Given the description of an element on the screen output the (x, y) to click on. 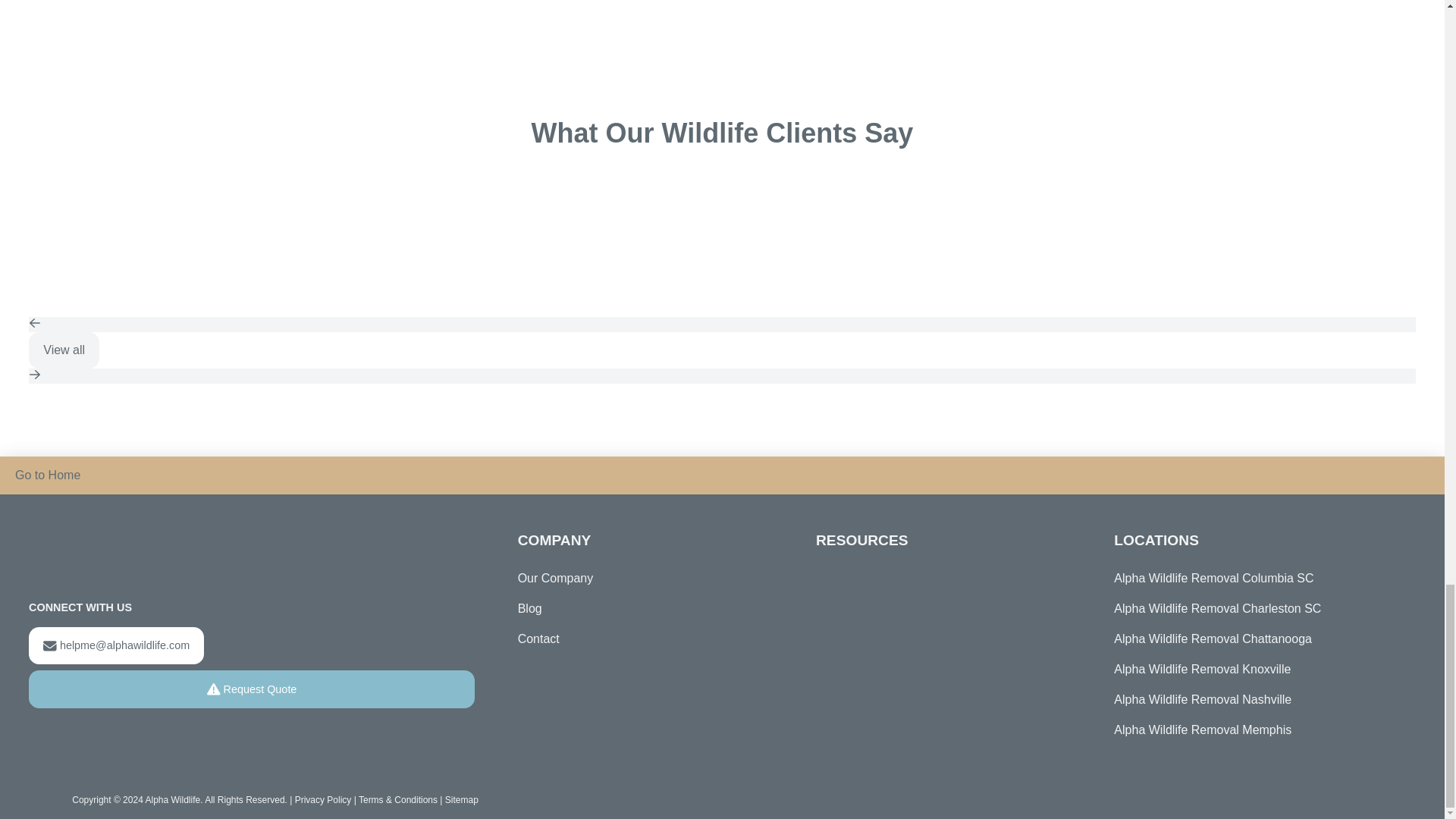
Privacy Policy (323, 799)
Alpha Wildlife Removal Nashville (1254, 699)
Alpha Wildlife Removal Chattanooga (1254, 639)
Sitemap (462, 799)
Alpha Wildlife Removal Charleston SC (1254, 608)
Alpha Wildlife Removal Knoxville (1254, 669)
Our Company (556, 578)
View all (64, 350)
Request Quote (251, 689)
Contact (538, 639)
Alpha Wildlife Removal Columbia SC (1254, 578)
Alpha Wildlife Removal Memphis (1254, 729)
